Given the description of an element on the screen output the (x, y) to click on. 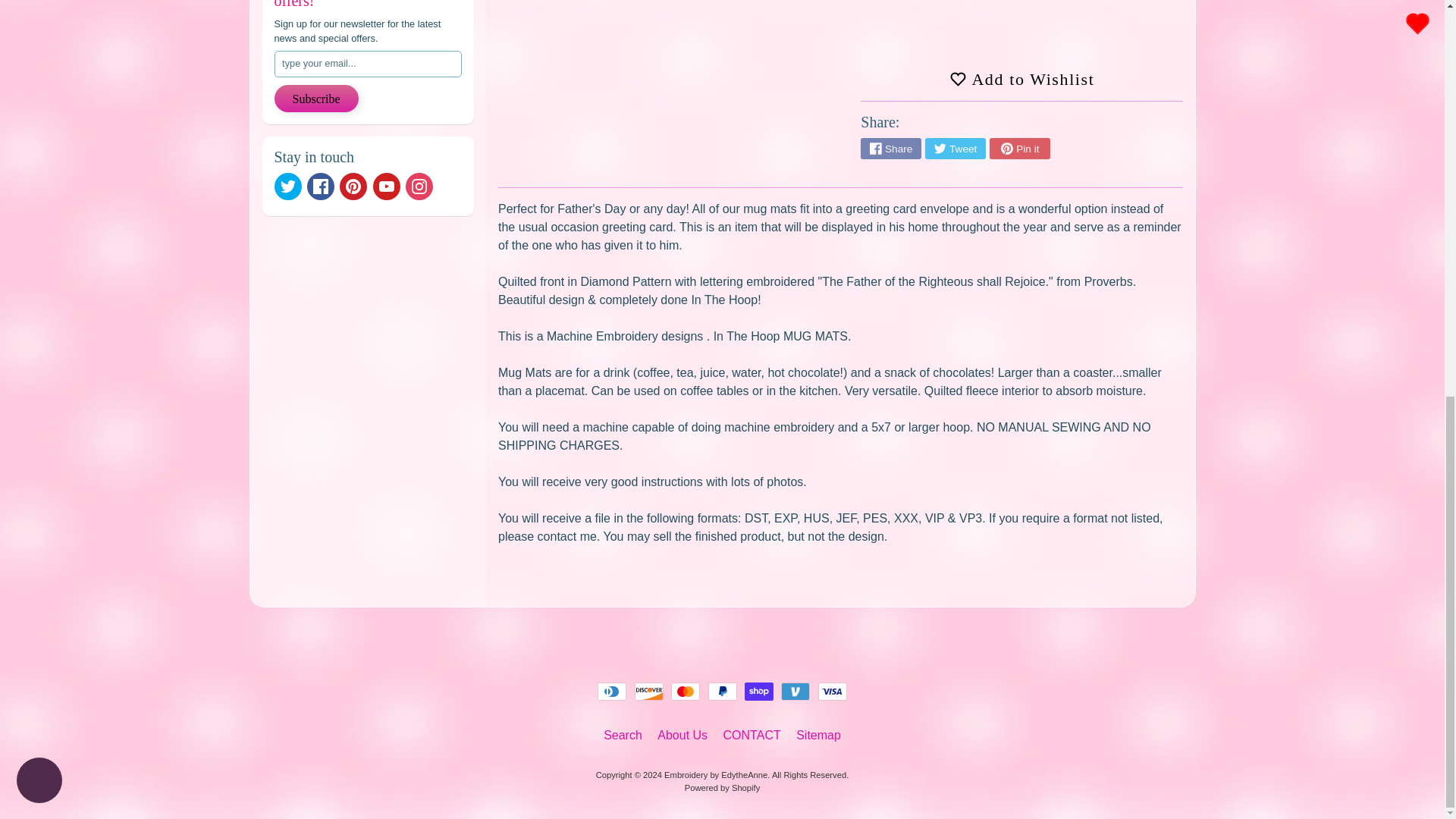
Shopify online store chat (38, 19)
Mastercard (685, 691)
Shop Pay (758, 691)
Venmo (794, 691)
Instagram (419, 185)
Facebook (320, 185)
Pin on Pinterest (1019, 148)
PayPal (721, 691)
Pinterest (352, 185)
Youtube (386, 185)
